Given the description of an element on the screen output the (x, y) to click on. 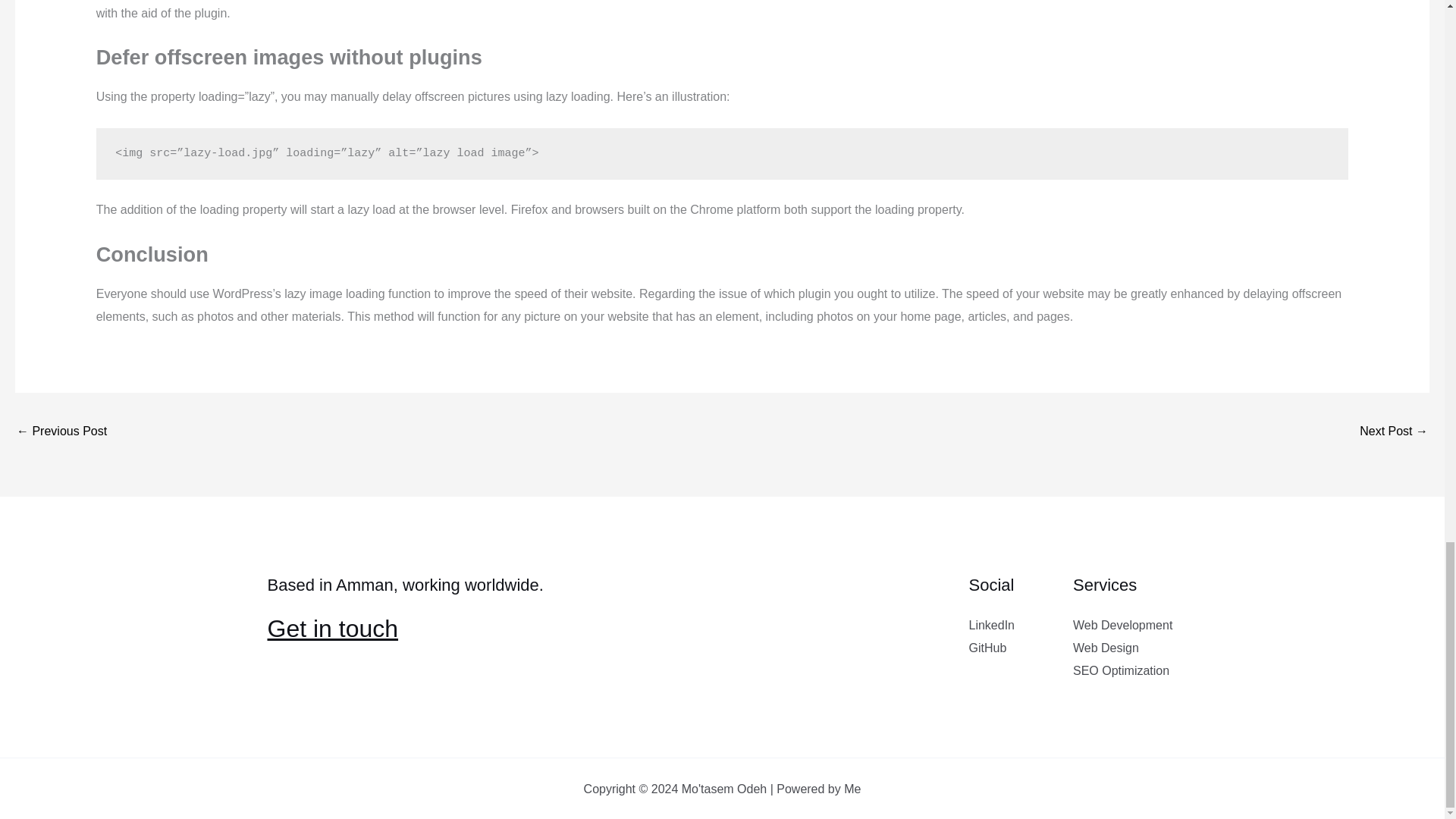
How To Remove Unused JavaScript From WordPress (61, 432)
Web Development (1122, 625)
5 Best WordPress Page Builders (1393, 432)
LinkedIn (991, 625)
SEO Optimization (1121, 670)
Web Design (1105, 647)
GitHub (988, 647)
